Given the description of an element on the screen output the (x, y) to click on. 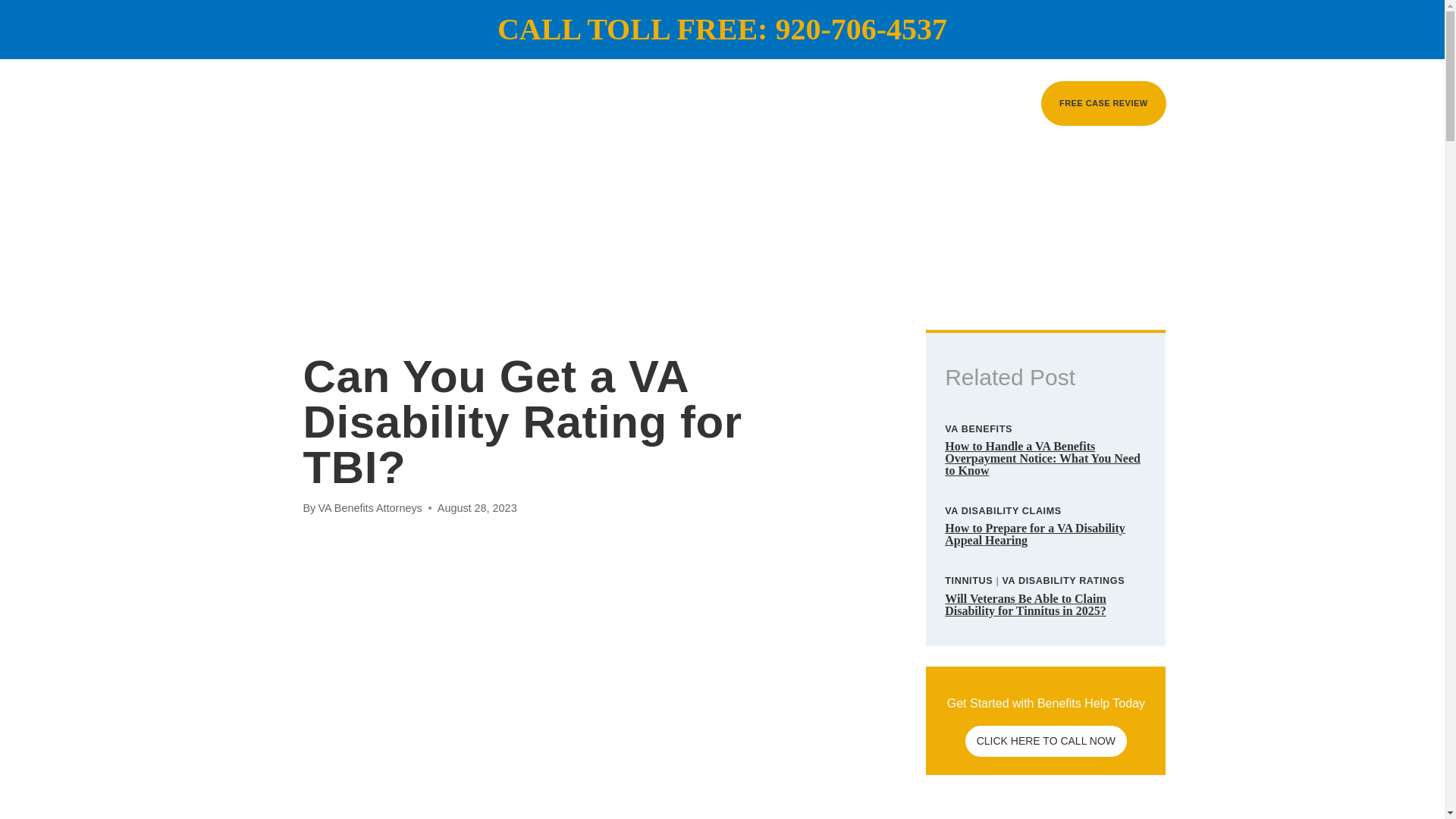
VA Benefits Attorneys (369, 508)
RESOURCES (972, 102)
FREE CASE REVIEW (1103, 102)
DISABILITES (852, 102)
920-706-4537 (860, 28)
